Given the description of an element on the screen output the (x, y) to click on. 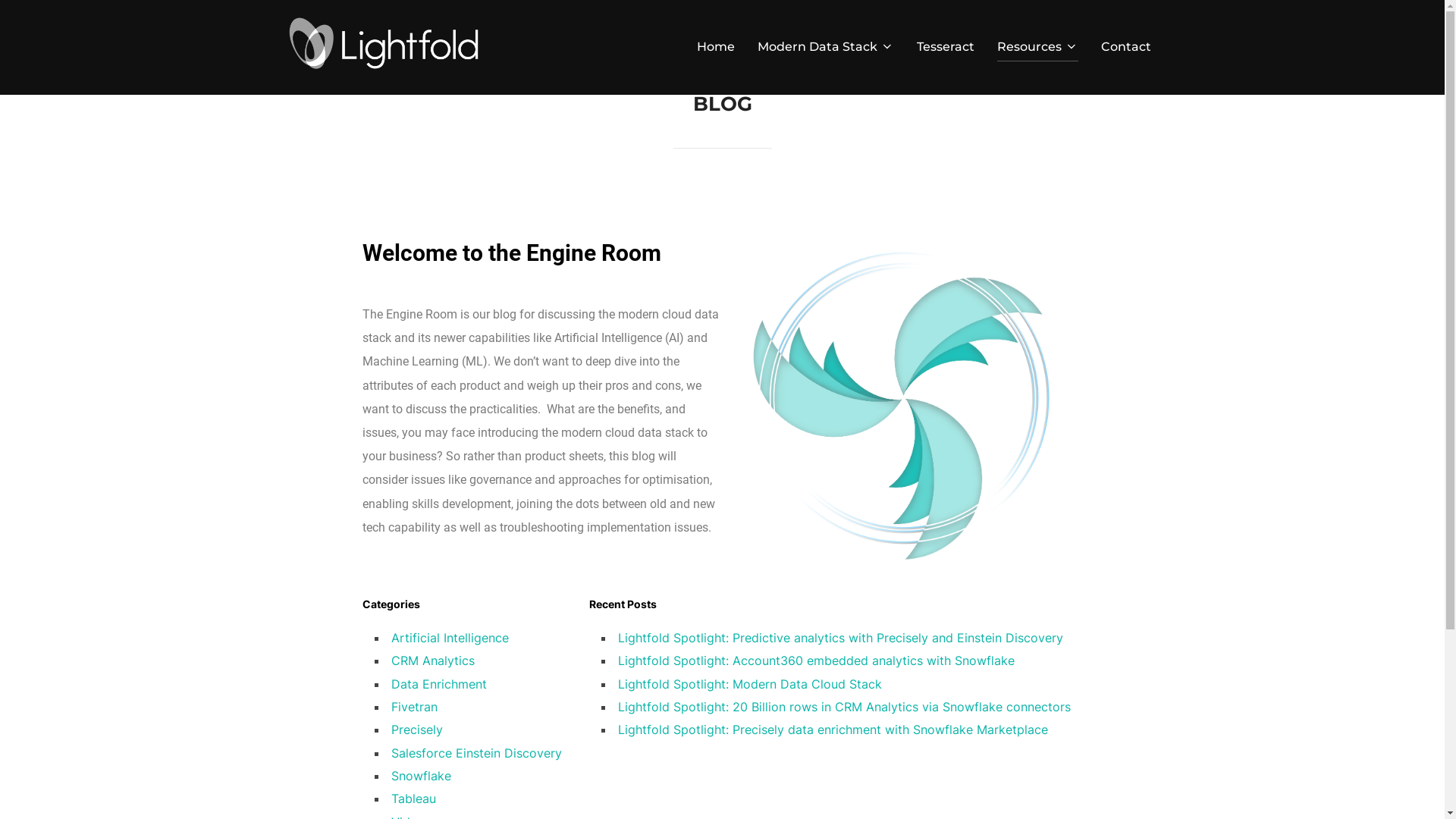
Modern Data Stack Element type: text (824, 46)
Snowflake Element type: text (421, 775)
Lightfold Spotlight: Modern Data Cloud Stack Element type: text (749, 683)
Contact Element type: text (1126, 46)
Tableau Element type: text (413, 798)
Home Element type: text (715, 46)
Resources Element type: text (1036, 46)
Fivetran Element type: text (414, 706)
CRM Analytics Element type: text (432, 660)
Precisely Element type: text (416, 729)
Tesseract Element type: text (944, 46)
Data Enrichment Element type: text (438, 683)
Artificial Intelligence Element type: text (449, 637)
Salesforce Einstein Discovery Element type: text (476, 752)
